Given the description of an element on the screen output the (x, y) to click on. 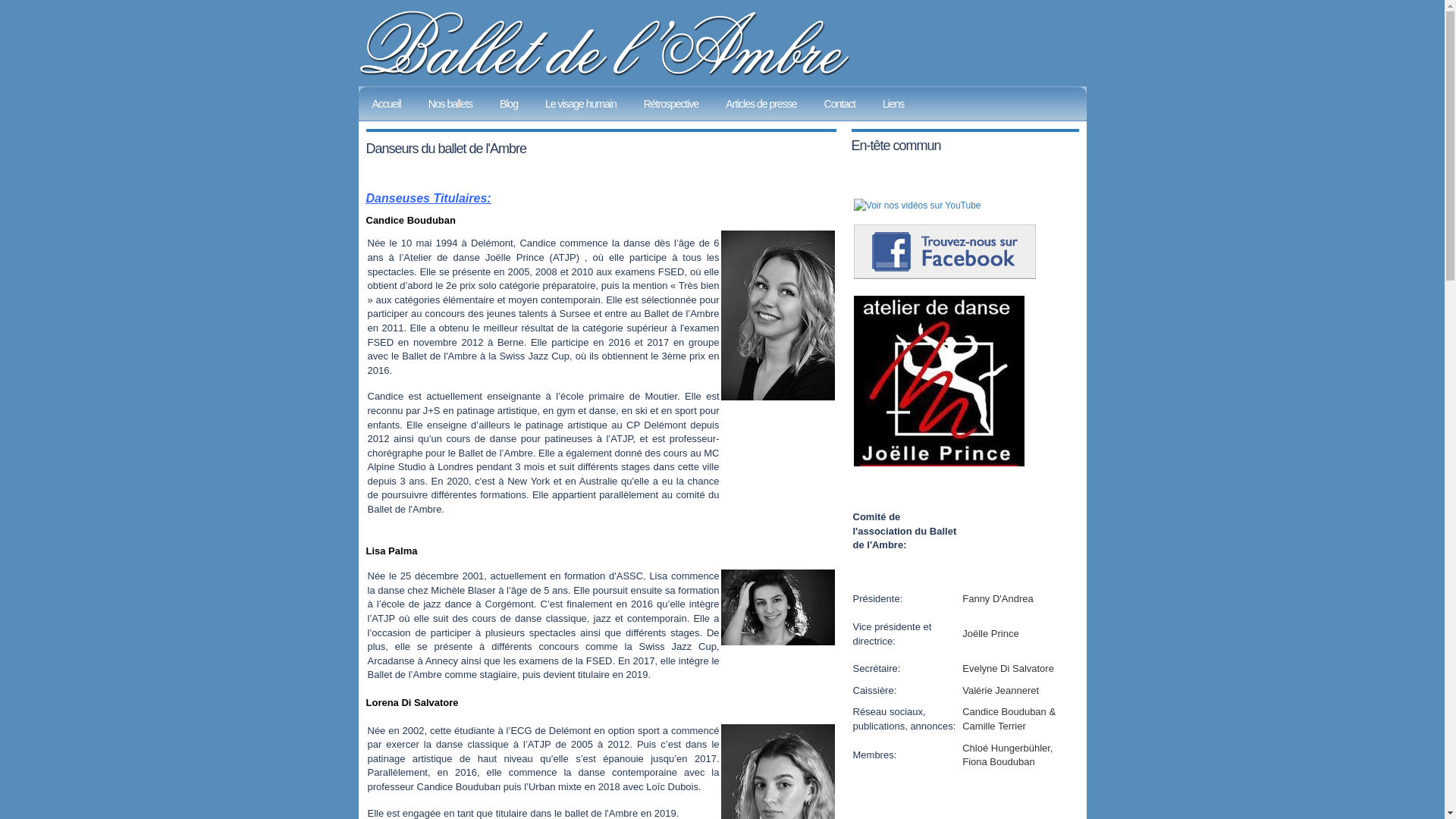
Nos ballets Element type: text (450, 103)
Blog Element type: text (508, 103)
Articles de presse Element type: text (760, 103)
Contact Element type: text (839, 103)
  Element type: text (936, 463)
Le visage humain Element type: text (580, 103)
ATJP Element type: hover (936, 463)
Accueil Element type: text (385, 103)
Liens Element type: text (893, 103)
  Element type: text (915, 205)
  Element type: text (942, 275)
